Given the description of an element on the screen output the (x, y) to click on. 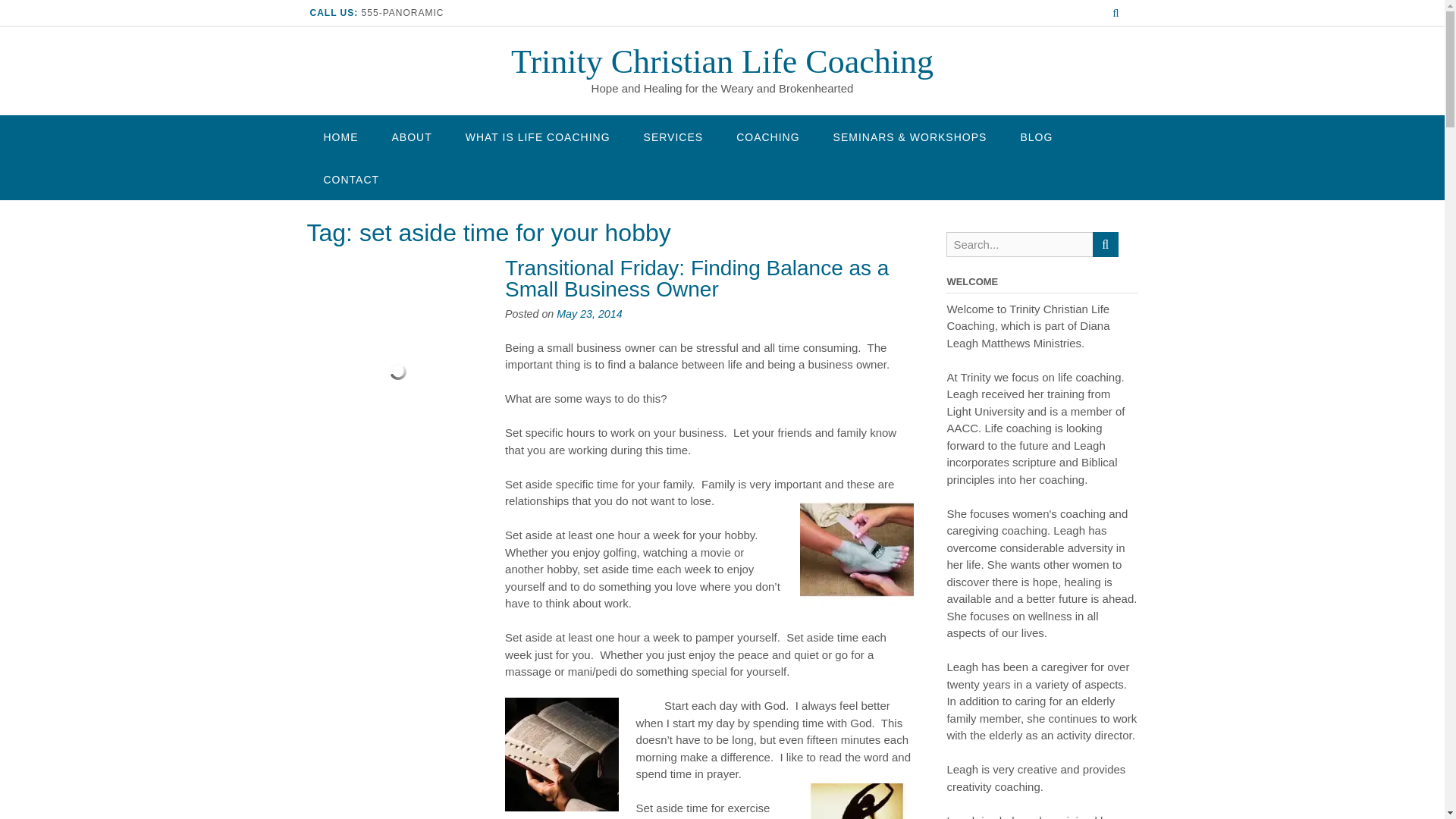
HOME (339, 136)
Trinity Christian Life Coaching (722, 61)
May 23, 2014 (588, 313)
BLOG (1035, 136)
ABOUT (411, 136)
WHAT IS LIFE COACHING (537, 136)
Search for: (1019, 244)
Trinity Christian Life Coaching (722, 61)
COACHING (767, 136)
CONTACT (350, 178)
SERVICES (673, 136)
